Given the description of an element on the screen output the (x, y) to click on. 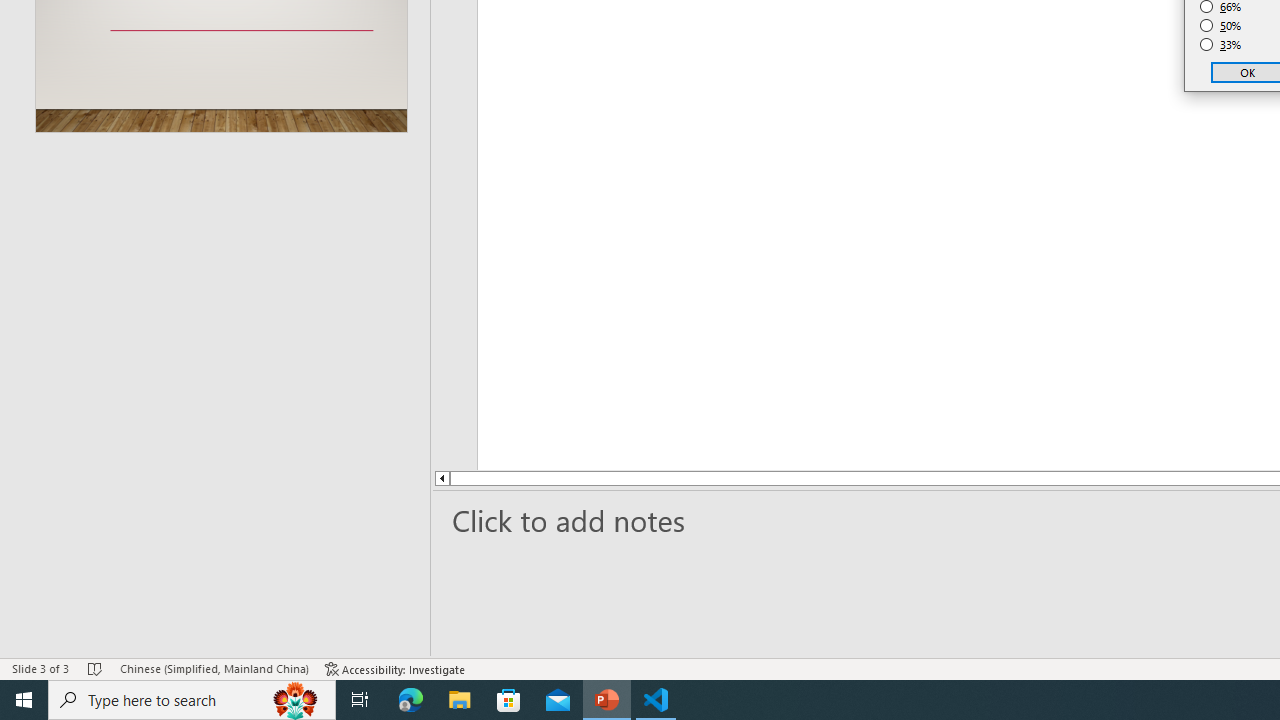
50% (1221, 25)
33% (1221, 44)
